Given the description of an element on the screen output the (x, y) to click on. 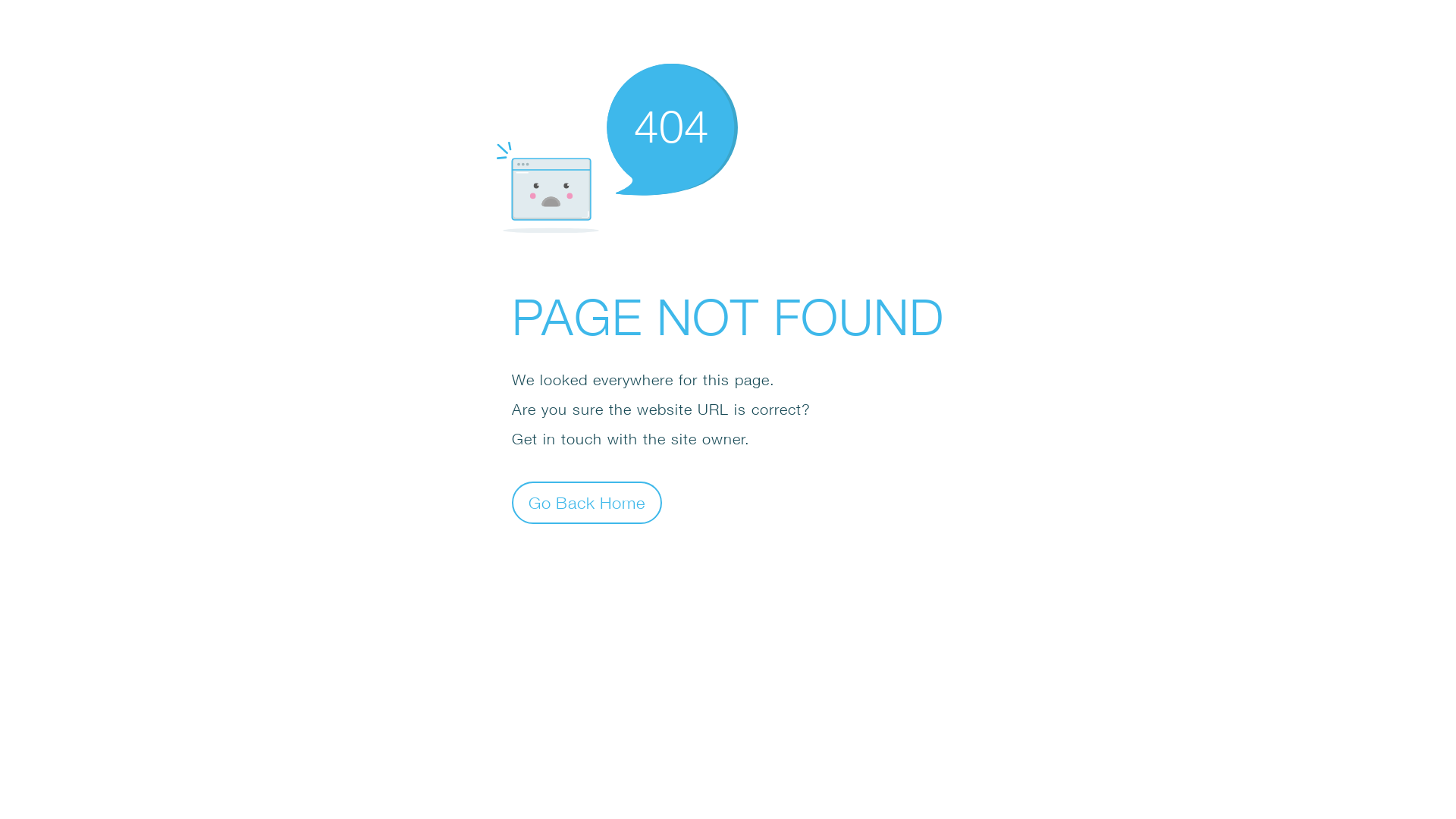
Go Back Home Element type: text (586, 502)
